Given the description of an element on the screen output the (x, y) to click on. 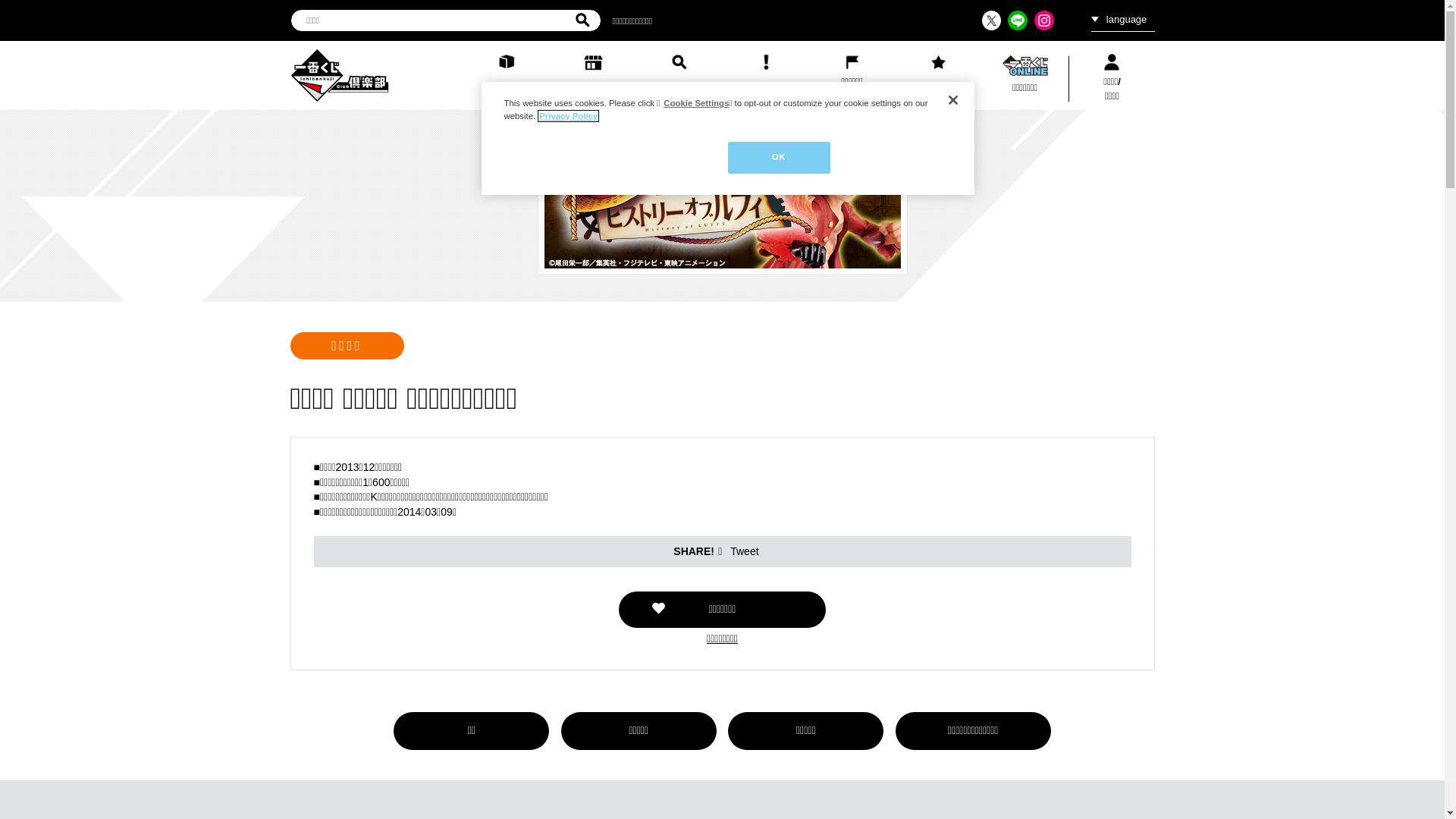
Tweet Element type: text (744, 551)
OK Element type: text (779, 157)
Privacy Policy Element type: text (568, 115)
Cookie Settings Element type: text (695, 102)
